Given the description of an element on the screen output the (x, y) to click on. 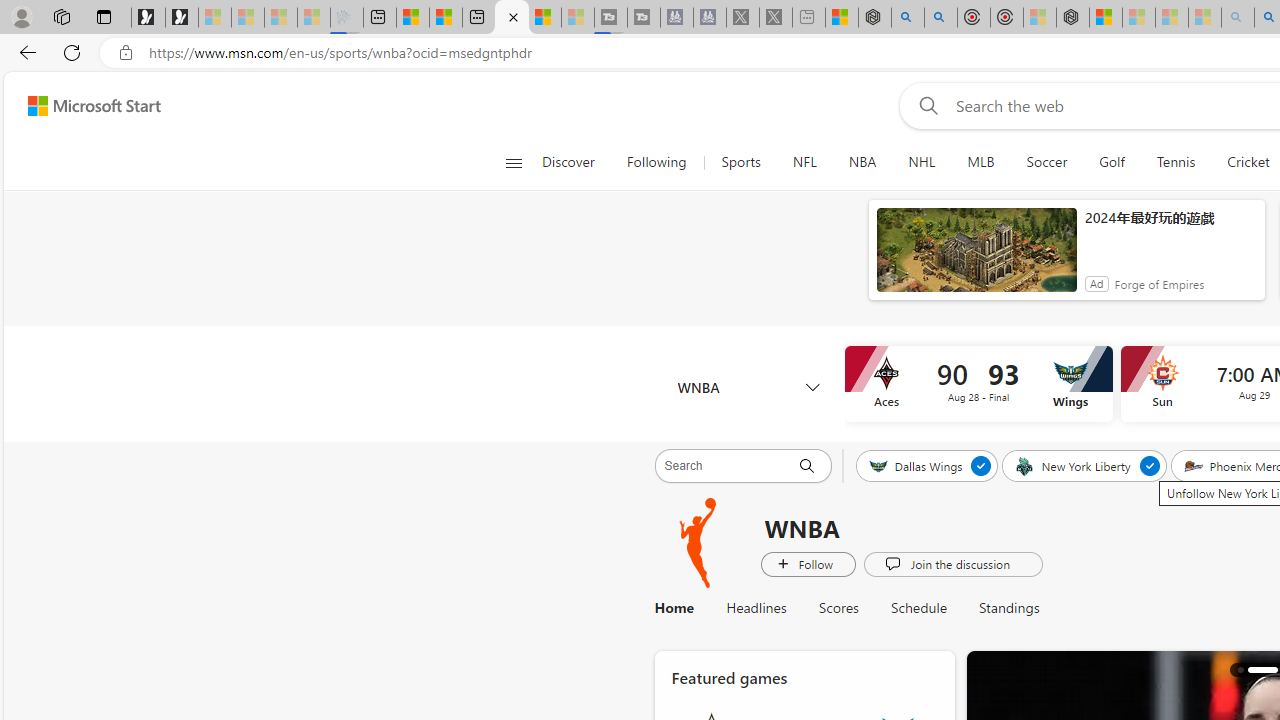
MLB (980, 162)
Headlines (756, 607)
Scores (838, 607)
Sports (740, 162)
Schedule (919, 607)
poe ++ standard - Search (941, 17)
Sports (740, 162)
Headlines (756, 607)
X - Sleeping (776, 17)
